Given the description of an element on the screen output the (x, y) to click on. 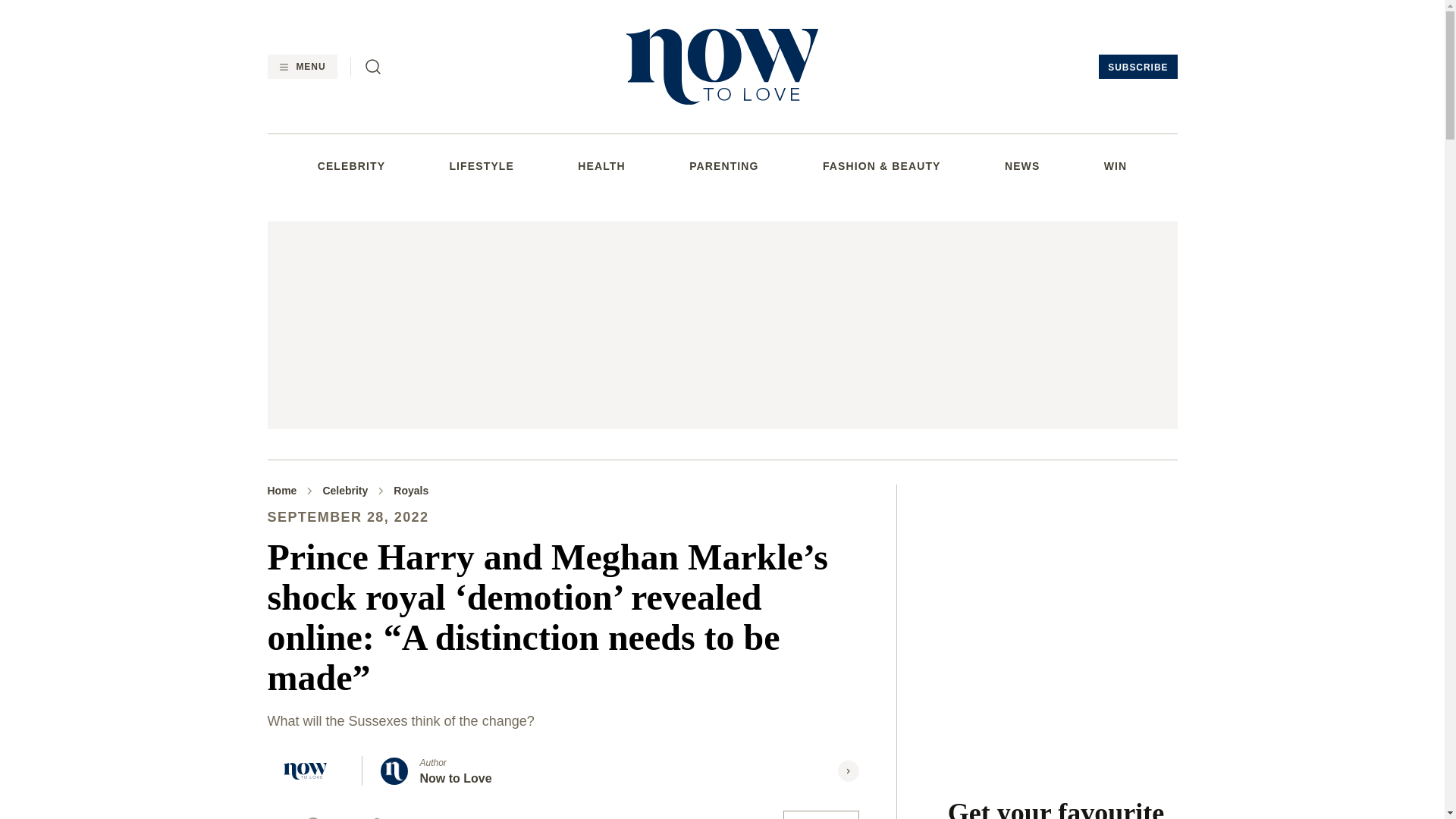
NEWS (1021, 165)
MENU (301, 66)
SUBSCRIBE (1137, 66)
LIFESTYLE (480, 165)
CELEBRITY (351, 165)
PARENTING (723, 165)
WIN (1114, 165)
HEALTH (601, 165)
